Given the description of an element on the screen output the (x, y) to click on. 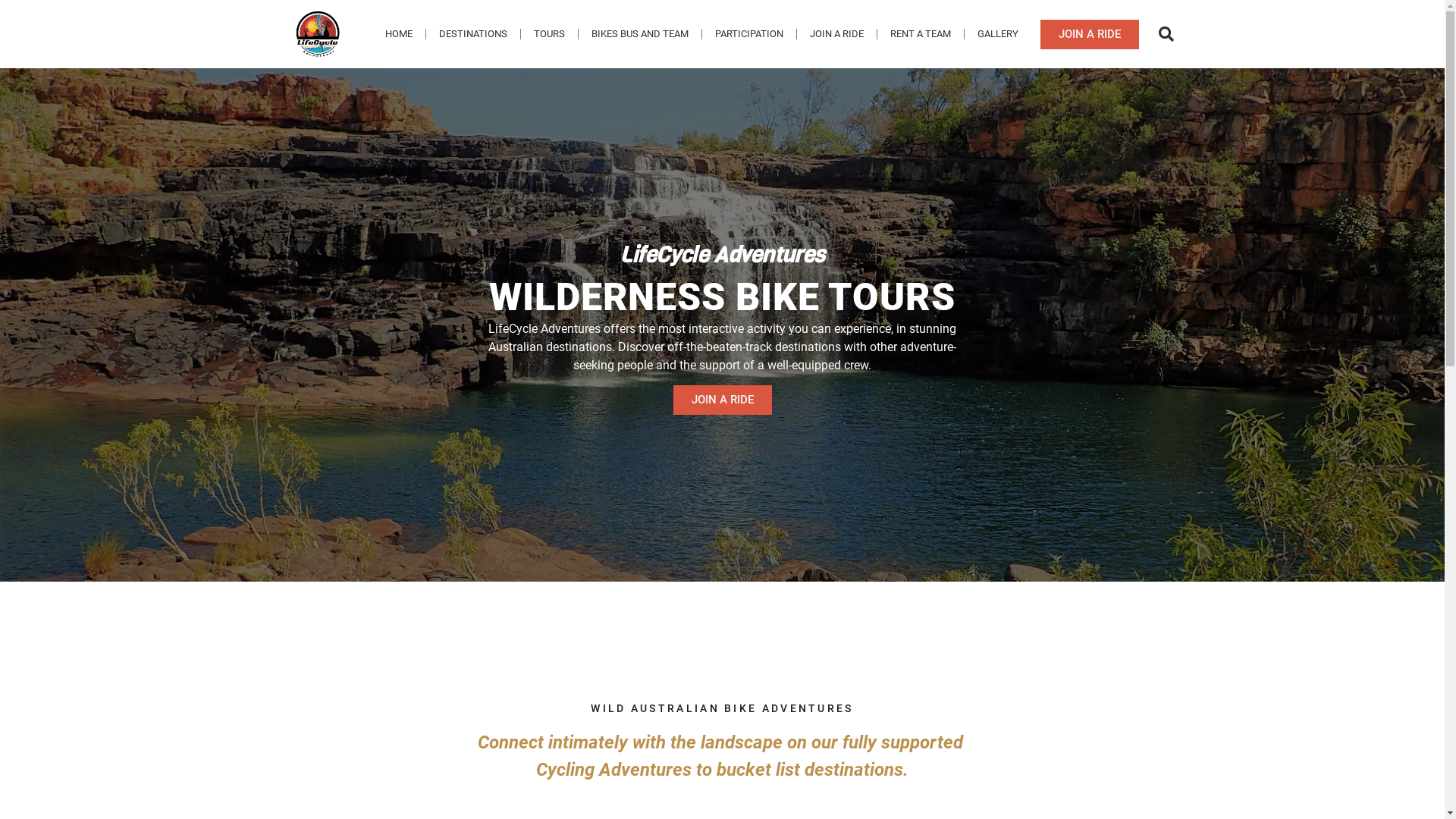
HOME Element type: text (398, 33)
JOIN A RIDE Element type: text (836, 33)
PARTICIPATION Element type: text (749, 33)
DESTINATIONS Element type: text (473, 33)
JOIN A RIDE Element type: text (1089, 34)
JOIN A RIDE Element type: text (722, 399)
RENT A TEAM Element type: text (920, 33)
BIKES BUS AND TEAM Element type: text (639, 33)
TOURS Element type: text (548, 33)
GALLERY Element type: text (997, 33)
